Given the description of an element on the screen output the (x, y) to click on. 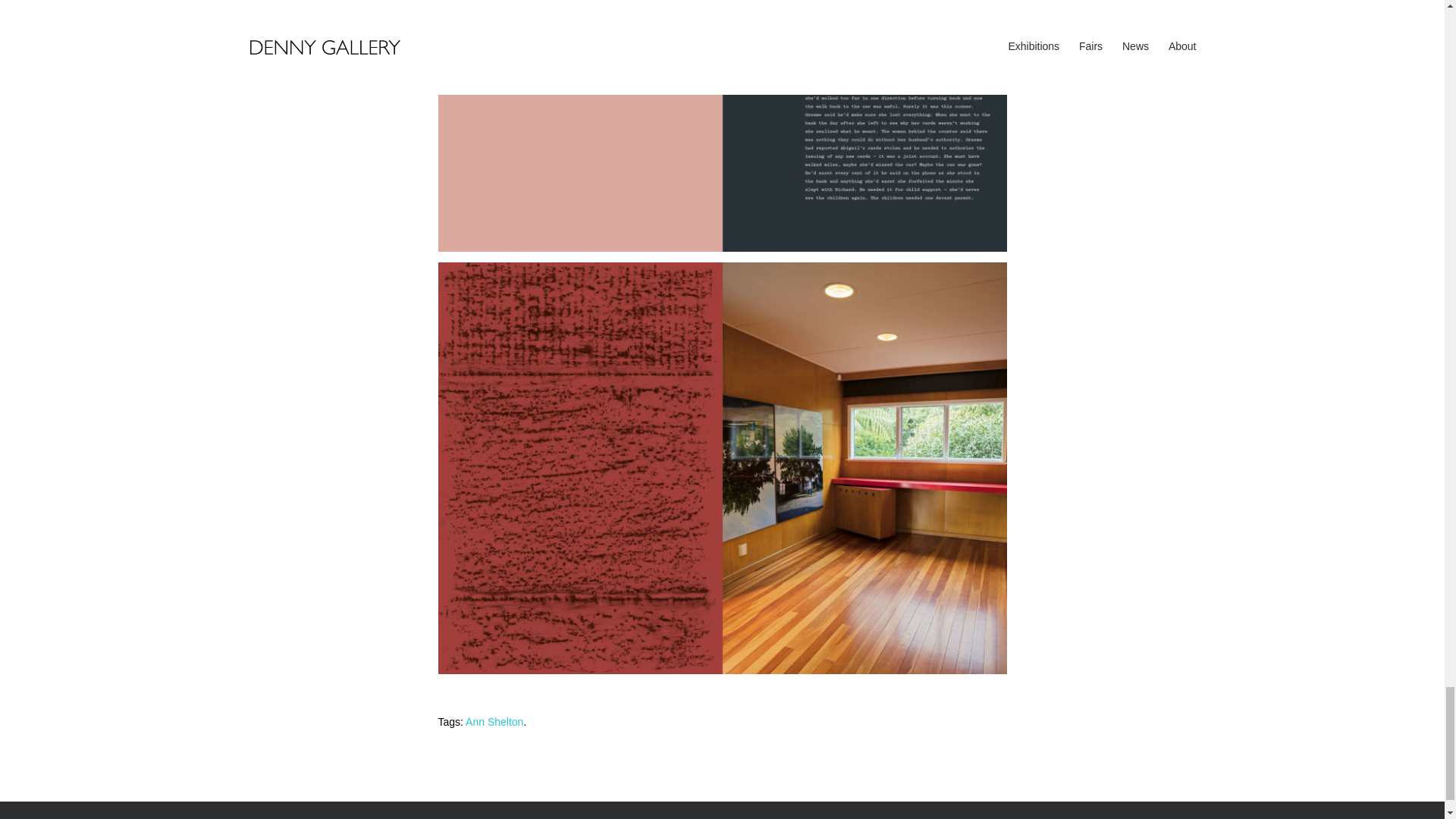
Ann Shelton (493, 721)
